Given the description of an element on the screen output the (x, y) to click on. 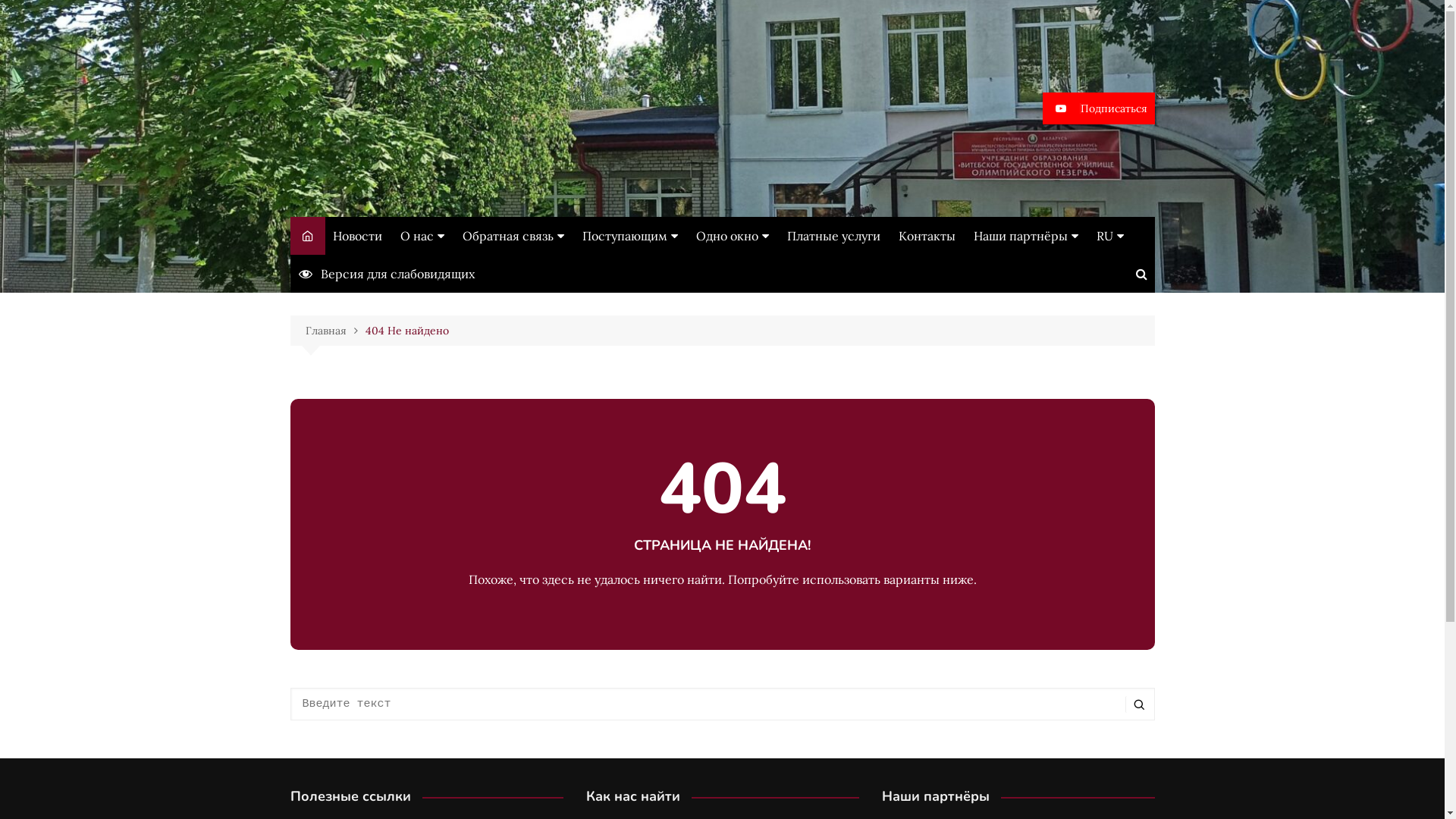
RU Element type: text (1171, 267)
BY Element type: text (1171, 294)
RU Element type: text (1109, 235)
